Given the description of an element on the screen output the (x, y) to click on. 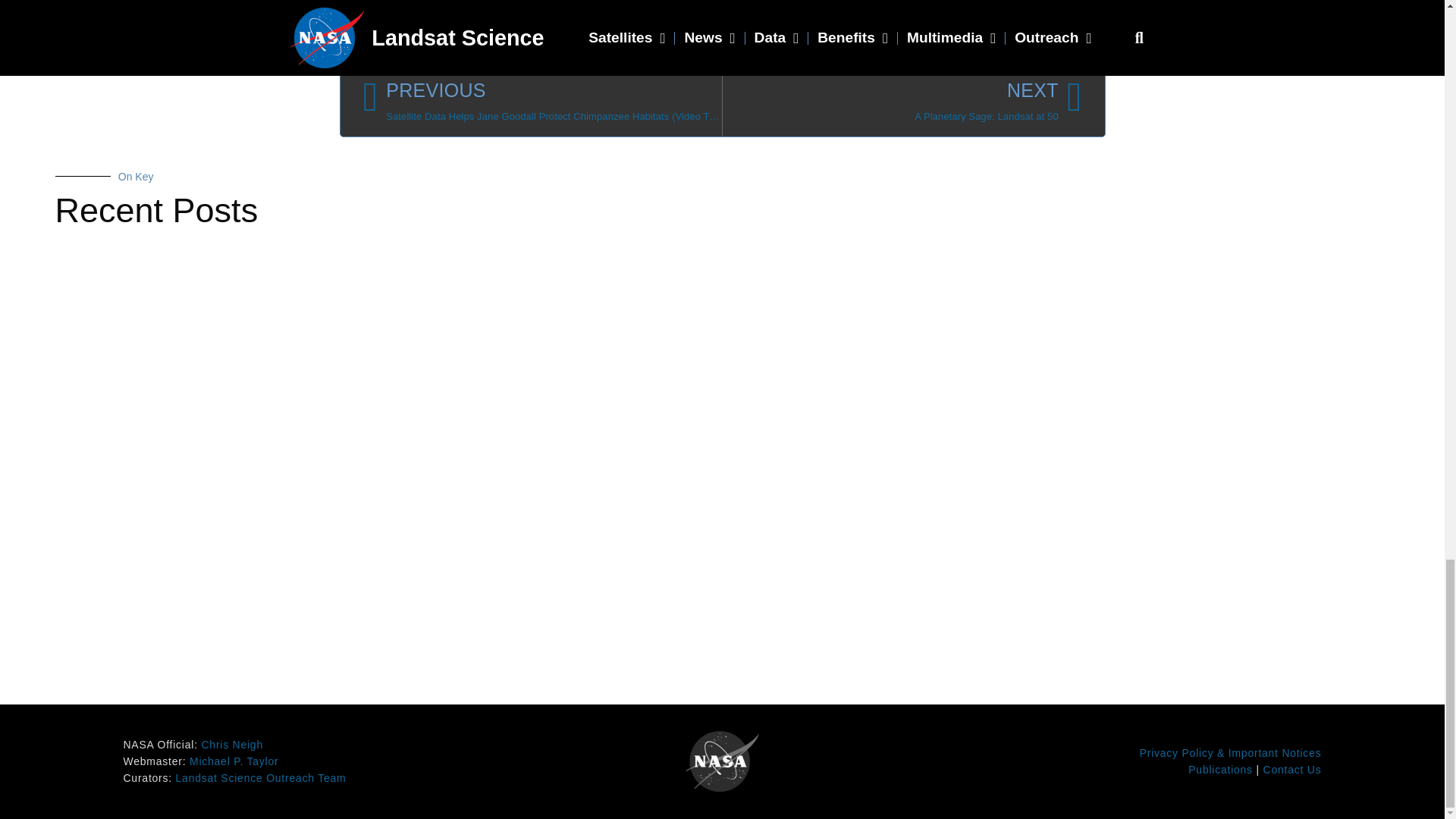
greyNASALOGO (722, 761)
